Given the description of an element on the screen output the (x, y) to click on. 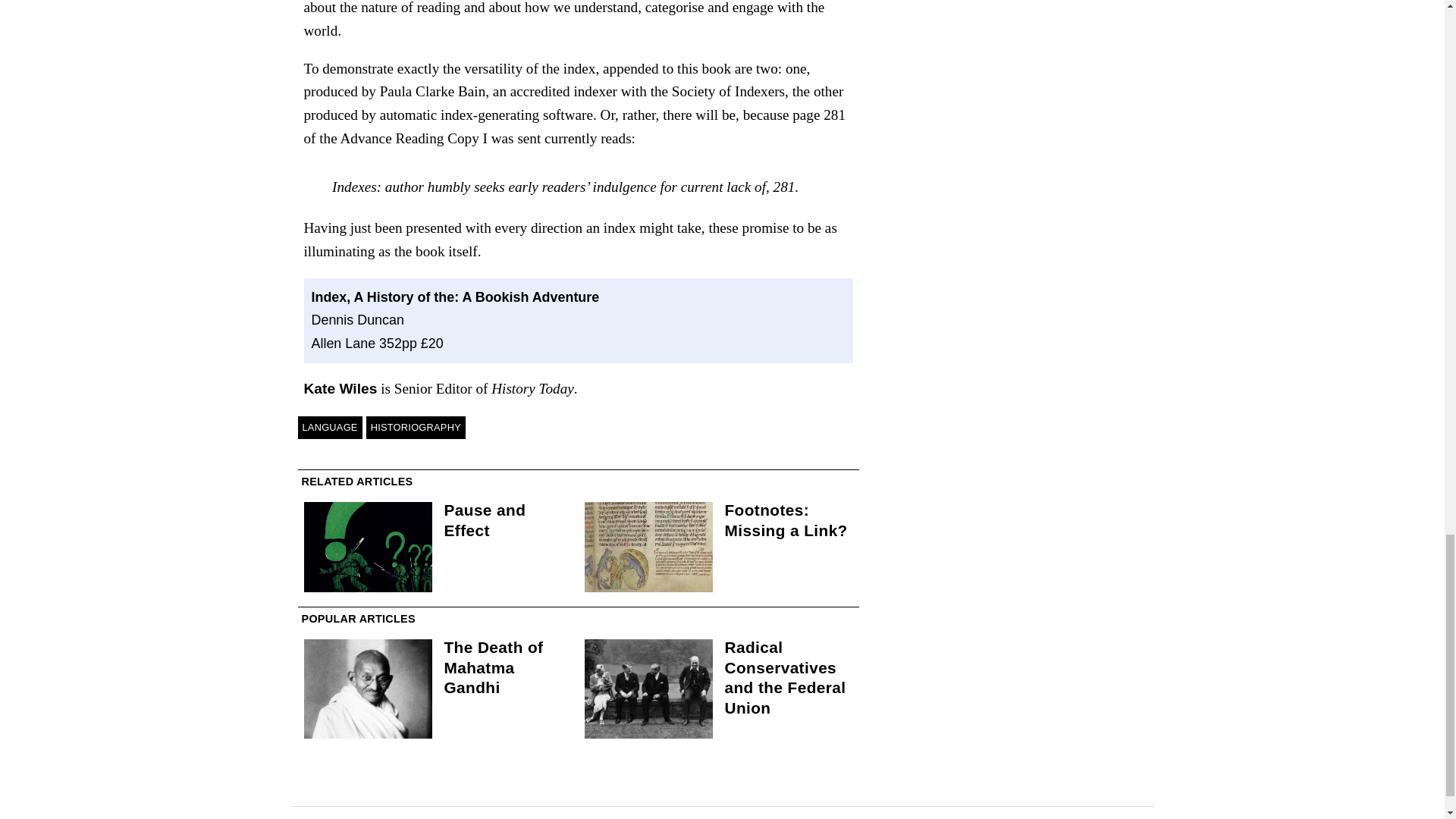
LANGUAGE (329, 427)
Footnotes: Missing a Link? (786, 519)
Pause and Effect (484, 519)
HISTORIOGRAPHY (415, 427)
